Given the description of an element on the screen output the (x, y) to click on. 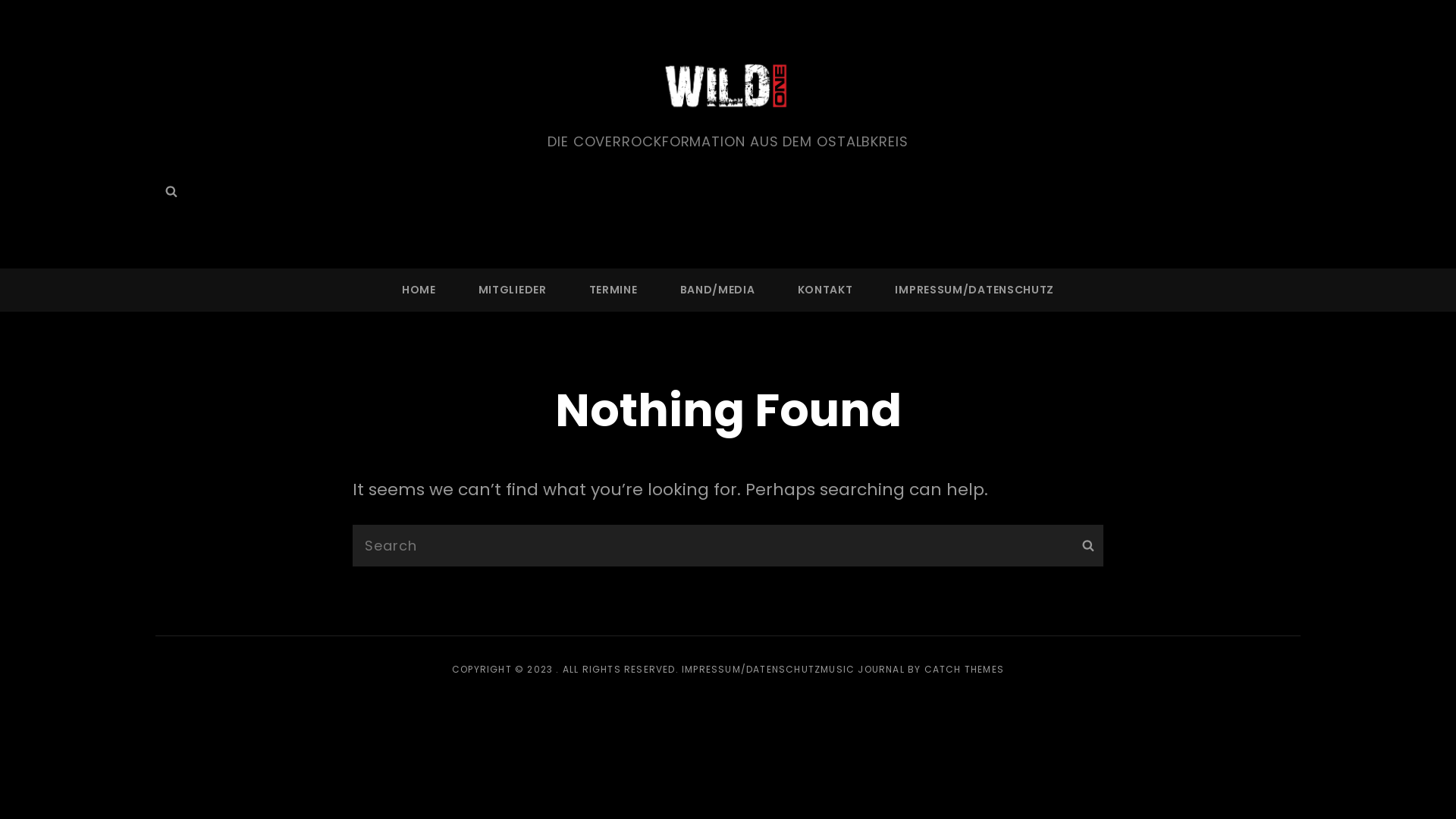
Search Element type: text (170, 191)
IMPRESSUM/DATENSCHUTZ Element type: text (974, 289)
KONTAKT Element type: text (825, 289)
Search Element type: text (1087, 545)
MITGLIEDER Element type: text (512, 289)
TERMINE Element type: text (613, 289)
IMPRESSUM/DATENSCHUTZ Element type: text (750, 668)
BAND/MEDIA Element type: text (717, 289)
CATCH THEMES Element type: text (964, 668)
HOME Element type: text (418, 289)
